Given the description of an element on the screen output the (x, y) to click on. 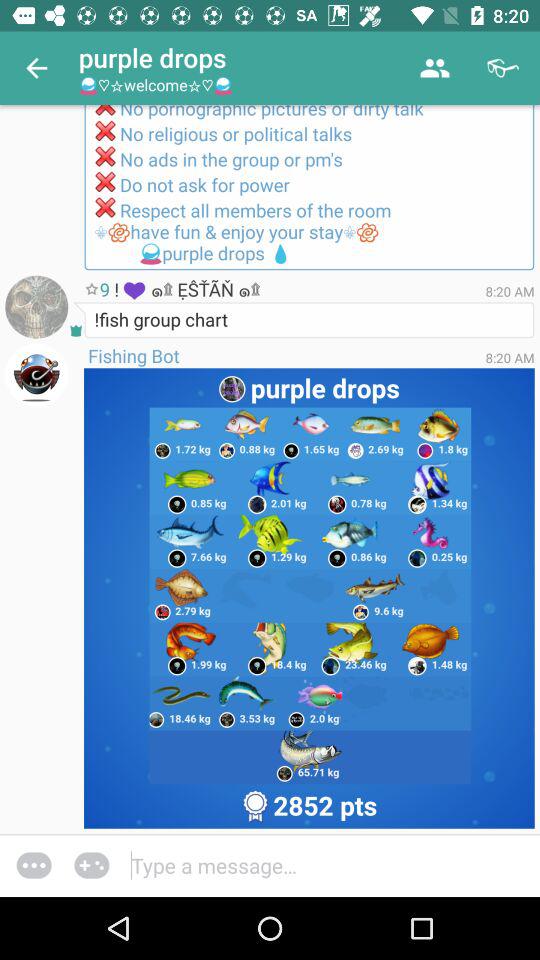
launch please follow the icon (309, 187)
